Given the description of an element on the screen output the (x, y) to click on. 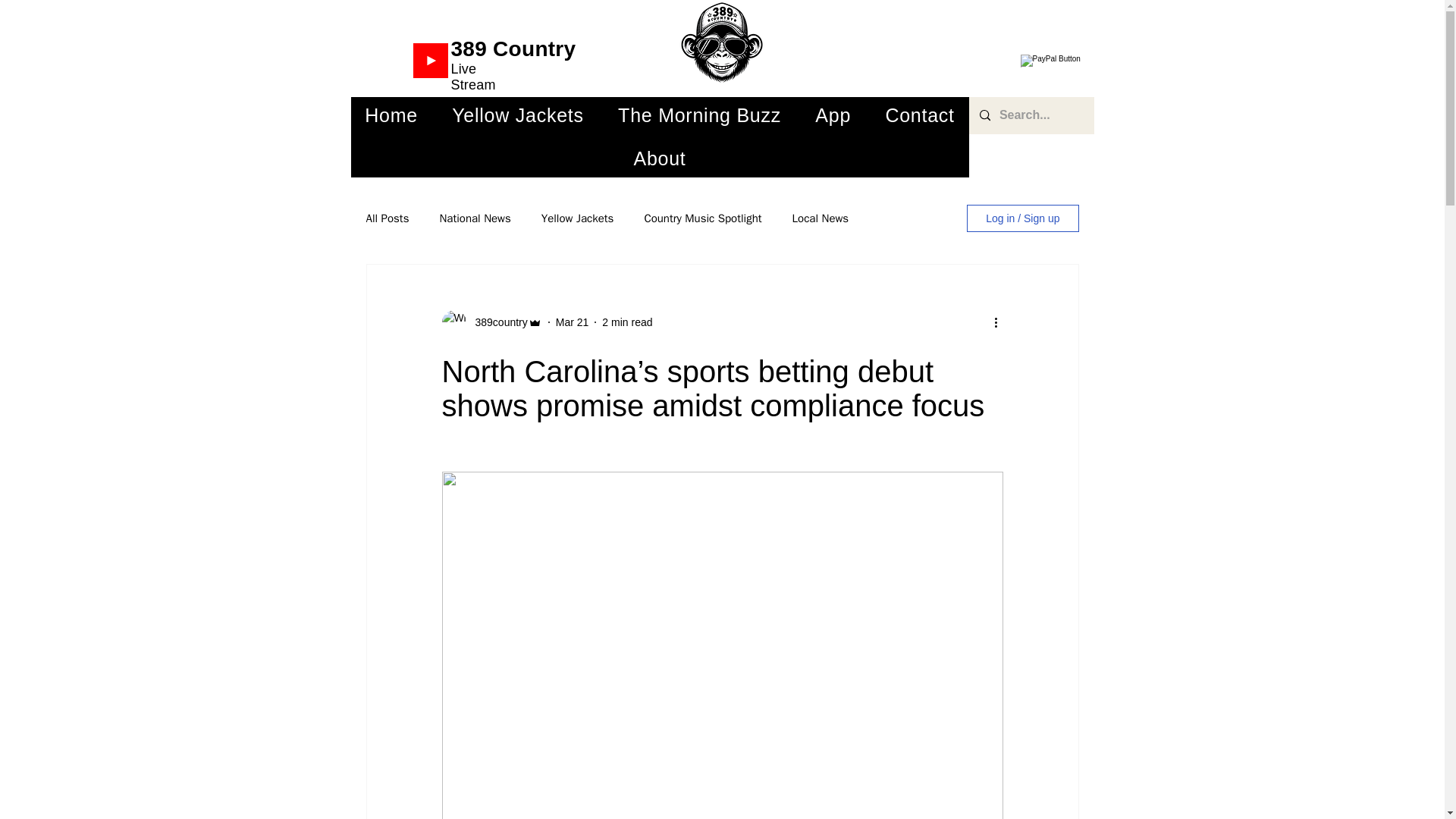
About (659, 158)
Home (390, 115)
App (833, 115)
Country Music Spotlight (702, 217)
Live Stream (472, 76)
2 min read (627, 321)
Contact (919, 115)
The Morning Buzz (699, 115)
389country (496, 321)
Mar 21 (572, 321)
Yellow Jackets (577, 217)
National News (475, 217)
Yellow Jackets (518, 115)
All Posts (387, 217)
Local News (820, 217)
